Given the description of an element on the screen output the (x, y) to click on. 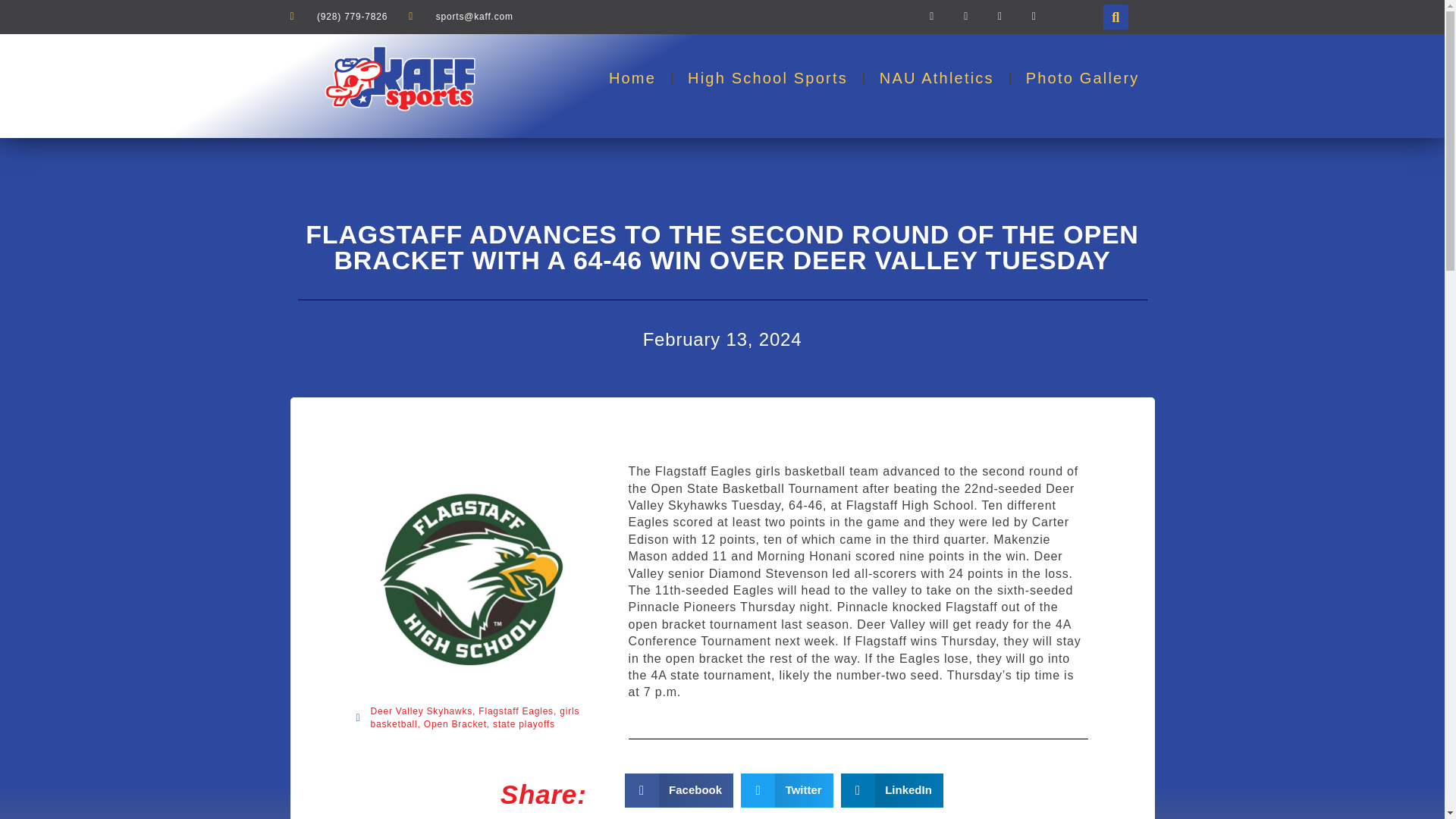
Open Bracket (454, 724)
Home (632, 77)
Photo Gallery (1082, 77)
girls basketball (474, 717)
NAU Athletics (936, 77)
Deer Valley Skyhawks (420, 710)
Flagstaff Eagles (516, 710)
High School Sports (767, 77)
